Given the description of an element on the screen output the (x, y) to click on. 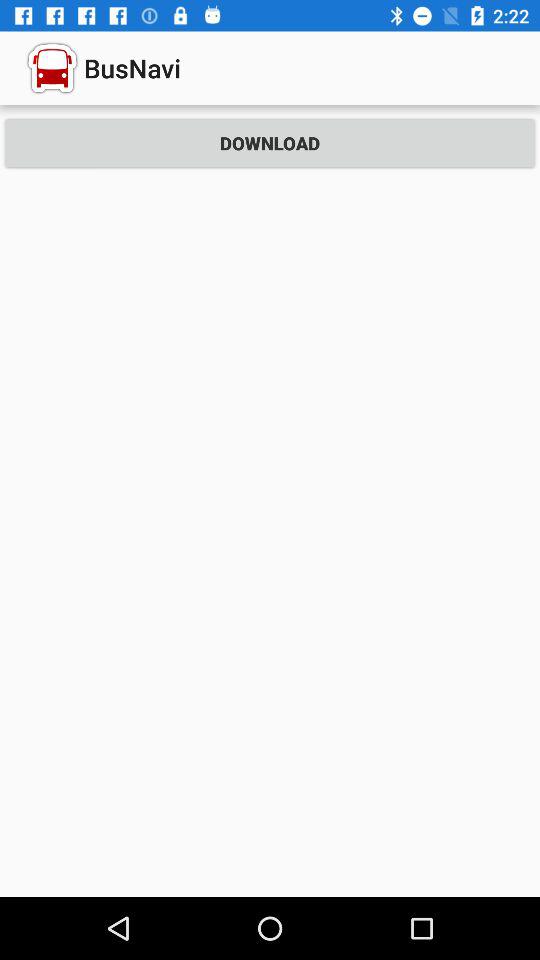
open the download item (270, 142)
